Given the description of an element on the screen output the (x, y) to click on. 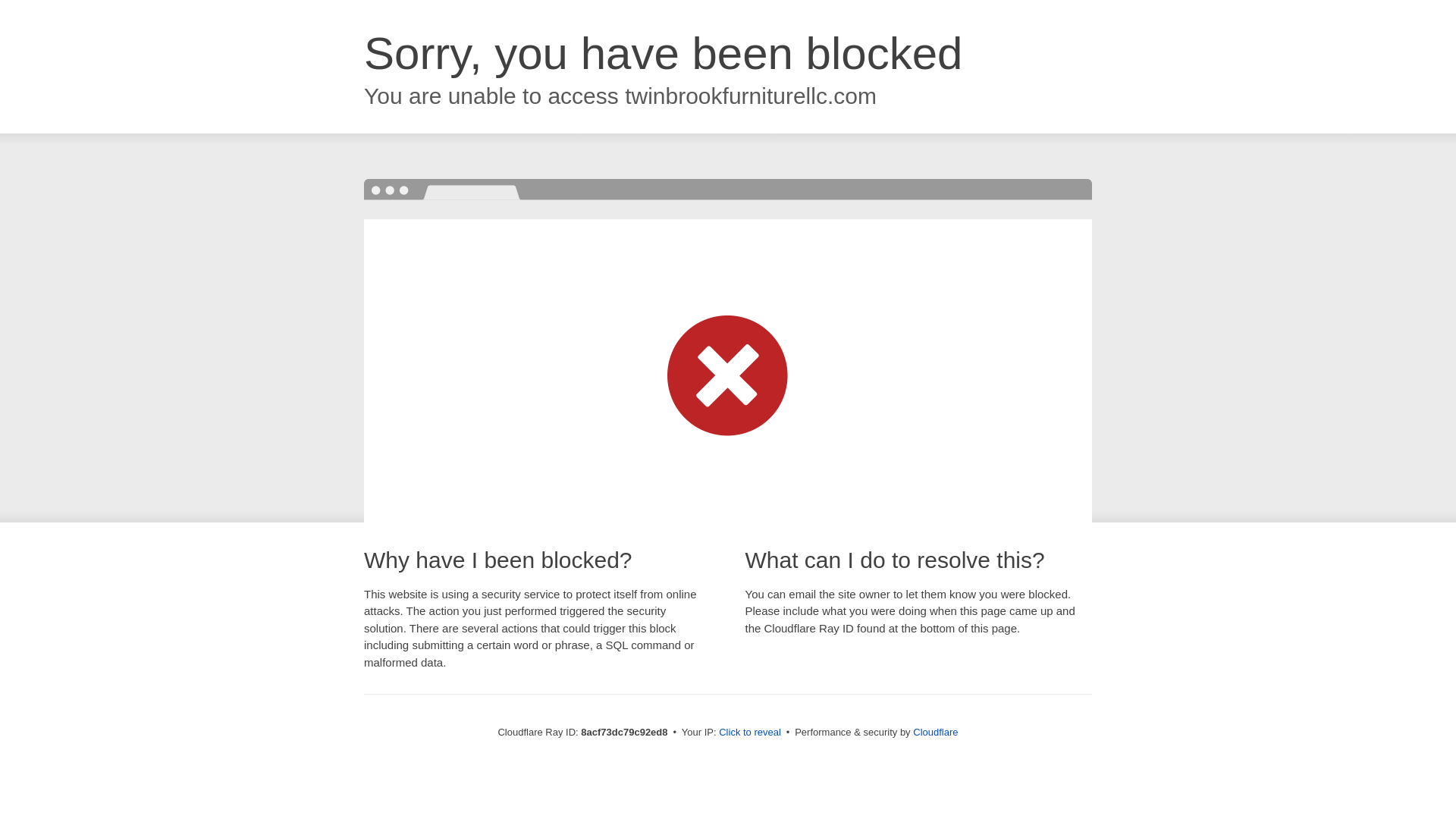
Click to reveal (749, 732)
Cloudflare (935, 731)
